Given the description of an element on the screen output the (x, y) to click on. 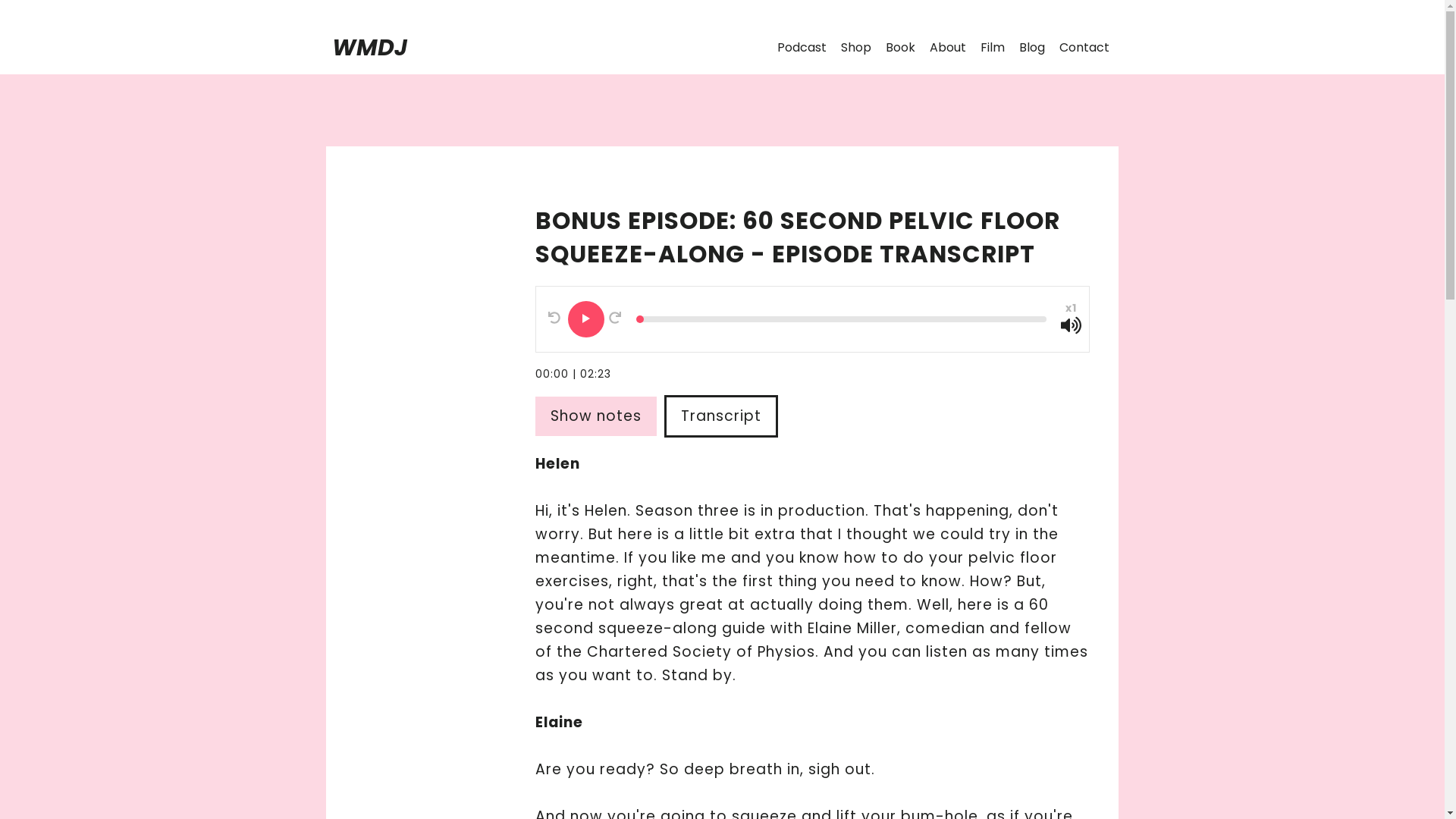
Blog (1032, 47)
About (948, 47)
Film (991, 47)
WMDJ (369, 50)
Show notes (599, 416)
Why Mums Don't Jump Home (369, 50)
Contact (1084, 47)
Podcast (802, 47)
Shop (855, 47)
x1 (1071, 308)
Transcript (723, 416)
Book (900, 47)
